Given the description of an element on the screen output the (x, y) to click on. 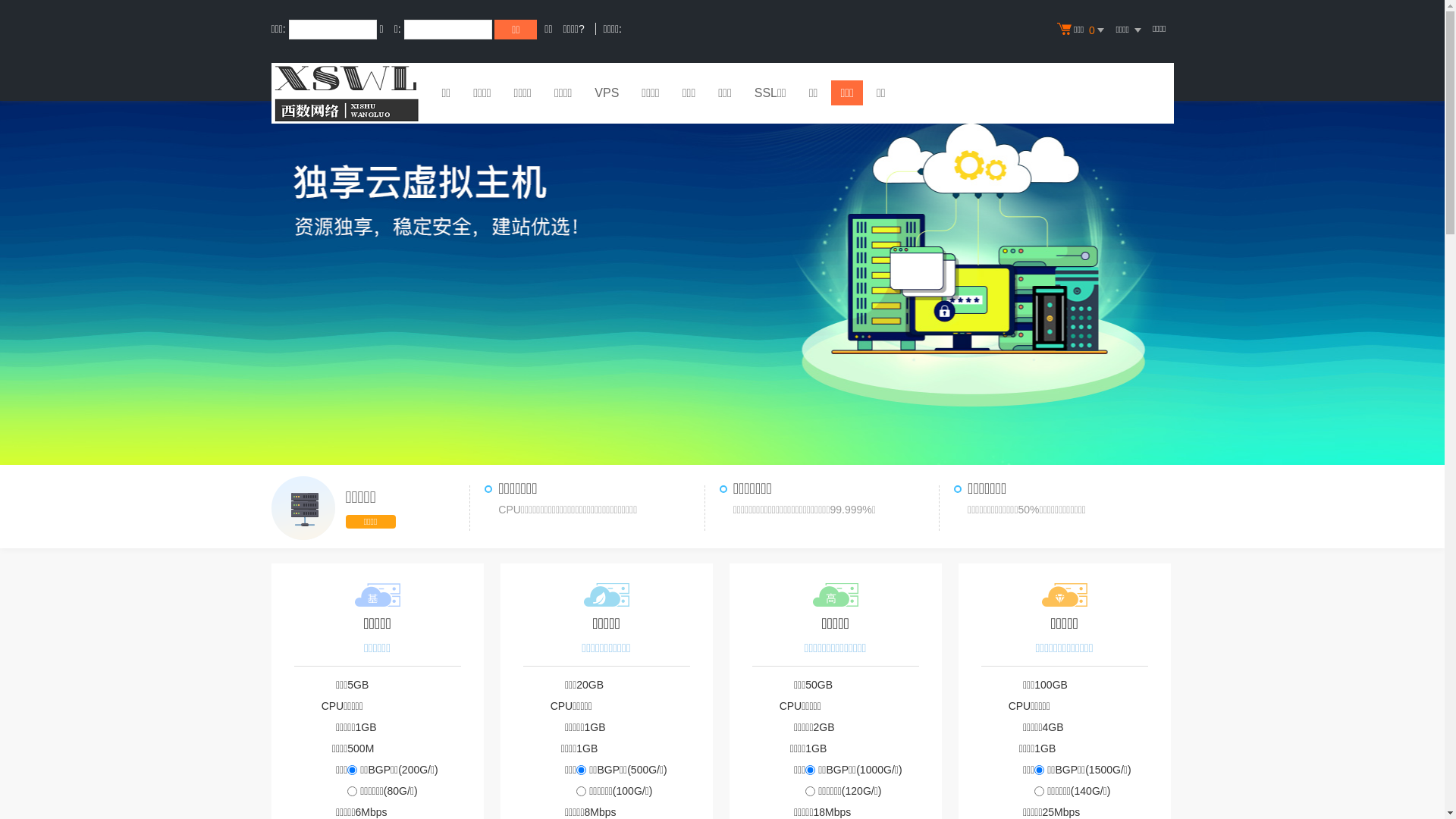
VPS Element type: text (606, 94)
